Given the description of an element on the screen output the (x, y) to click on. 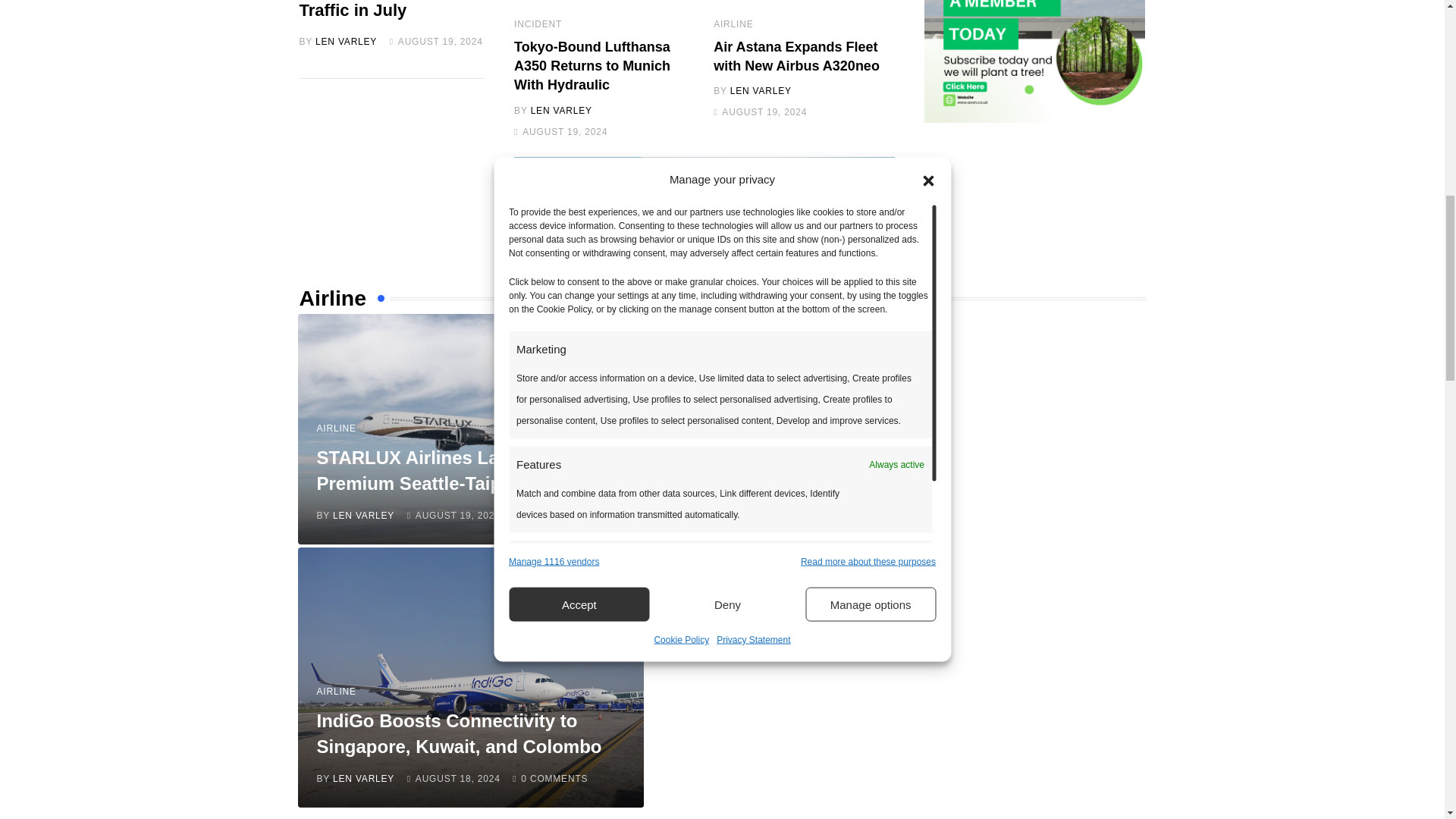
Posts by Len Varley (363, 515)
Posts by Len Varley (363, 778)
Posts by Len Varley (561, 110)
Posts by Len Varley (761, 90)
Posts by Len Varley (346, 41)
